Given the description of an element on the screen output the (x, y) to click on. 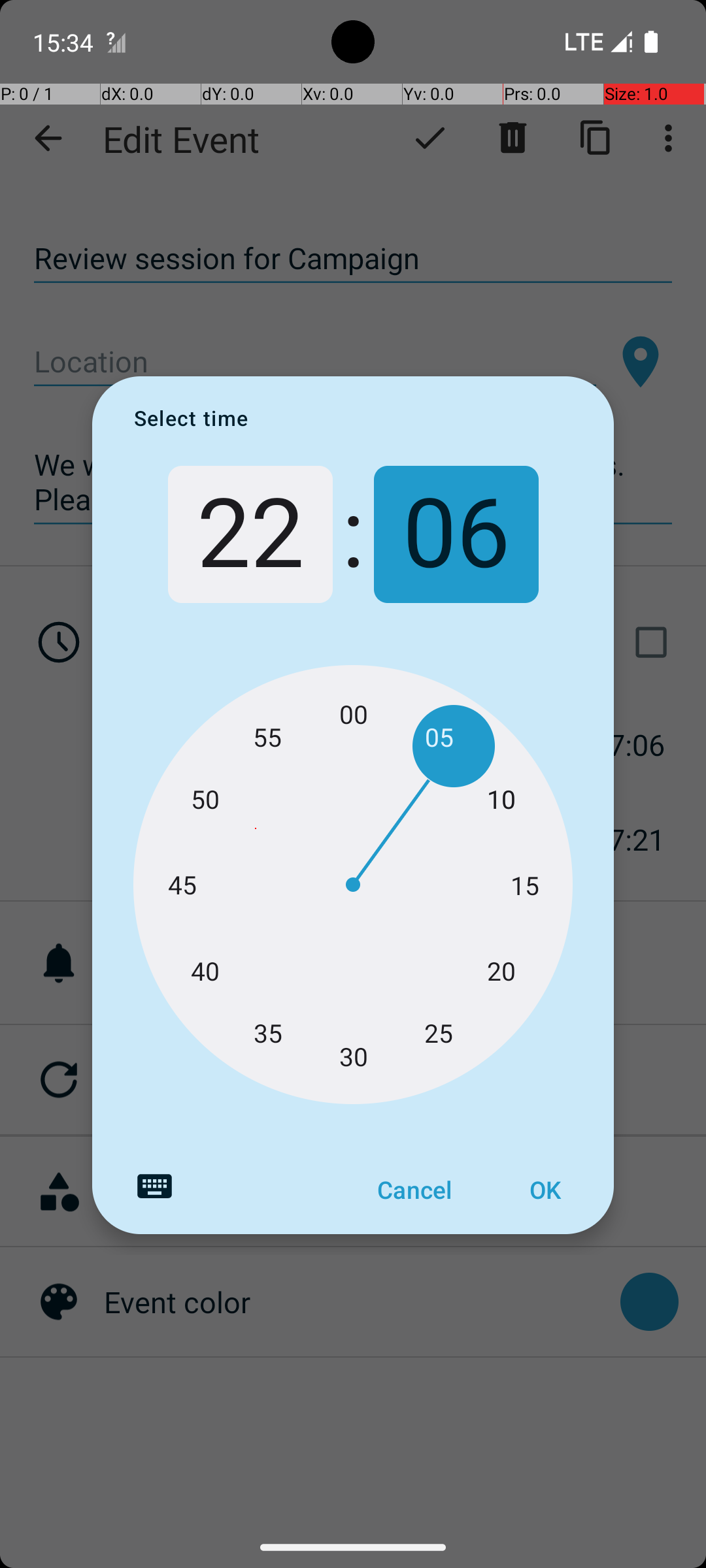
06 Element type: android.view.View (455, 534)
